Given the description of an element on the screen output the (x, y) to click on. 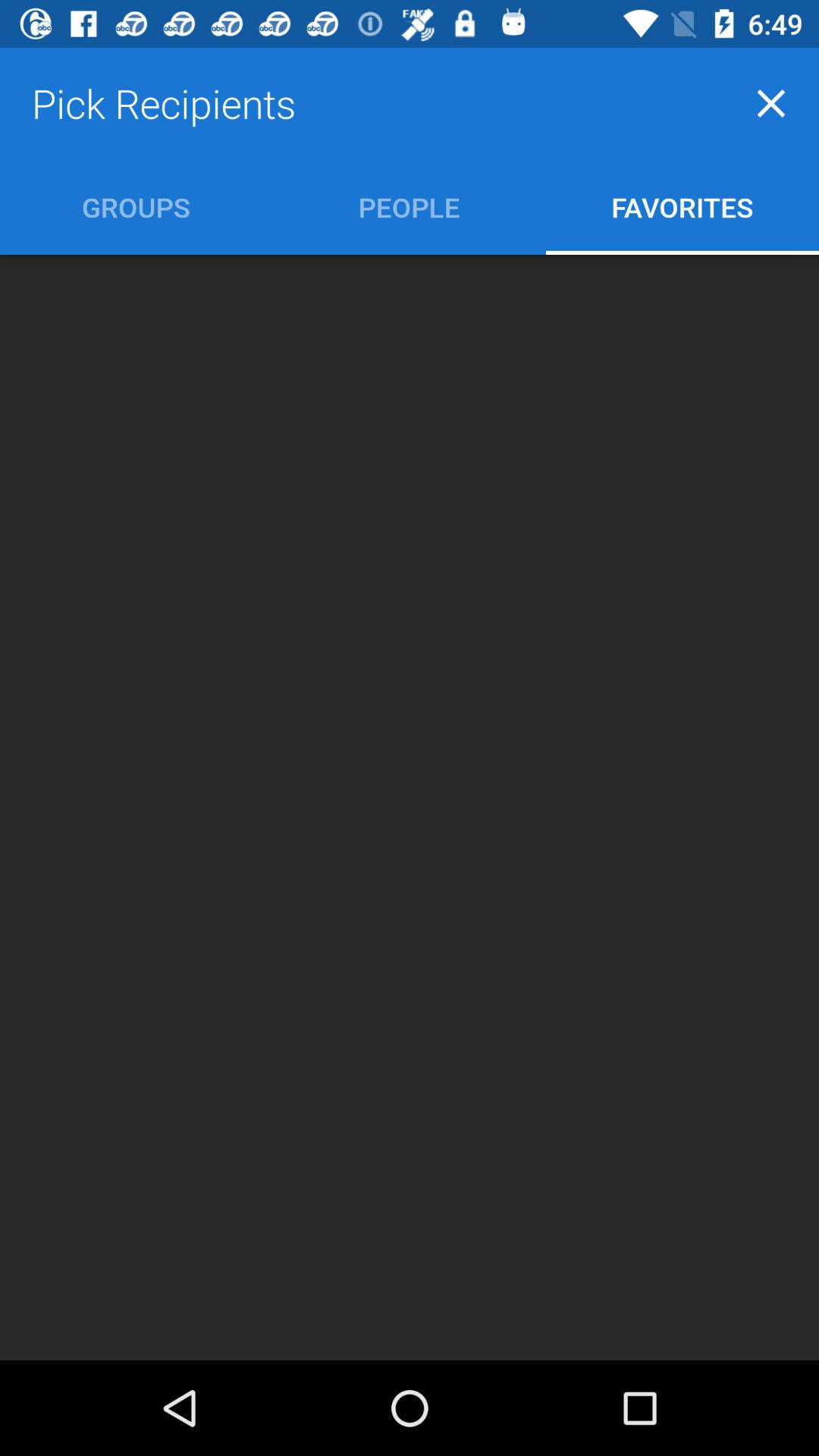
scroll to favorites (682, 206)
